Given the description of an element on the screen output the (x, y) to click on. 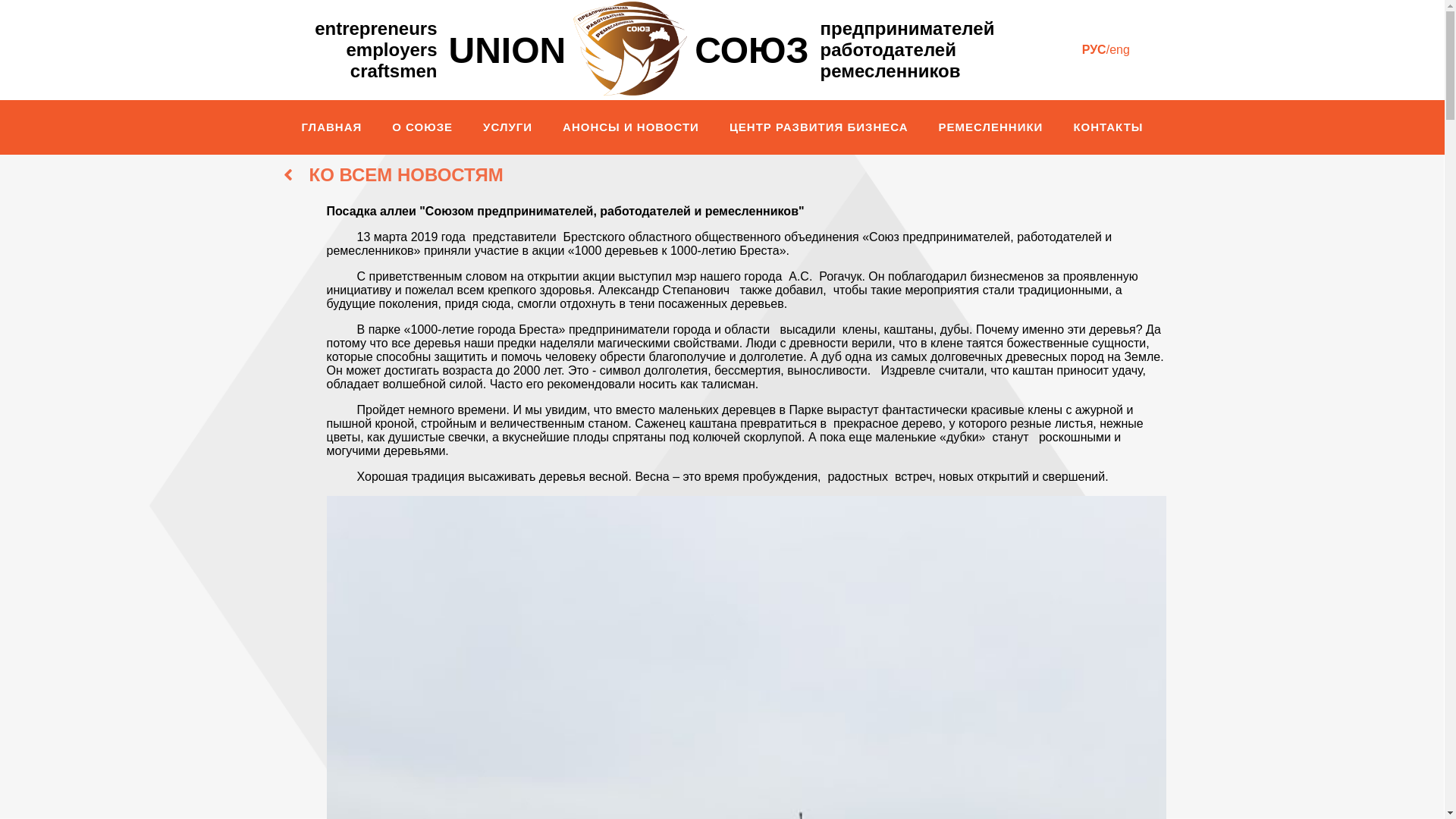
eng Element type: text (1119, 49)
